Given the description of an element on the screen output the (x, y) to click on. 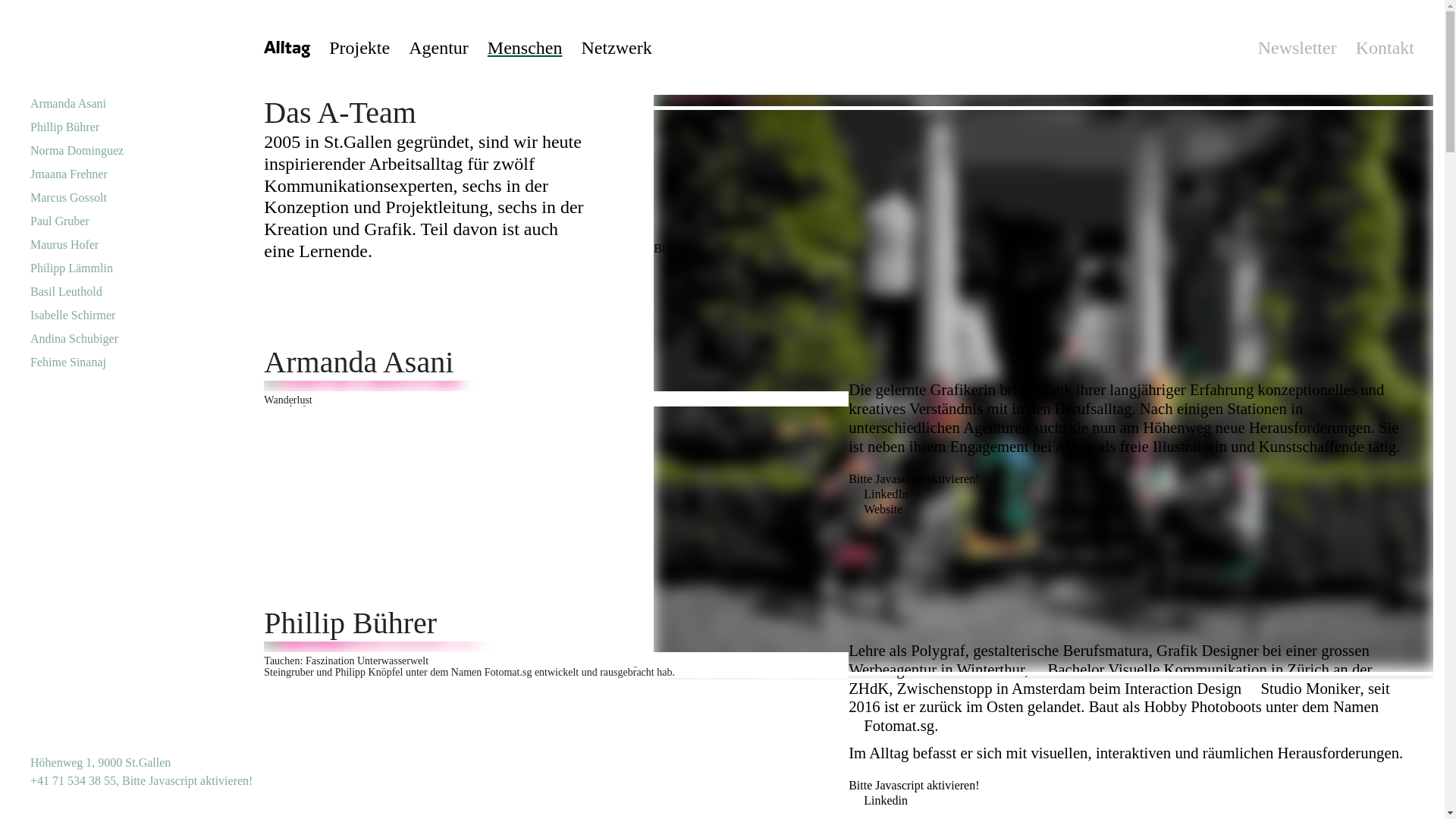
+41 71 534 38 55 Element type: text (73, 780)
Website Element type: text (875, 509)
Projekte Element type: text (359, 47)
Netzwerk Element type: text (615, 47)
Agentur Element type: text (438, 47)
Menschen Element type: text (524, 47)
Fehime Sinanaj Element type: text (102, 364)
Basil Leuthold Element type: text (102, 294)
LinkedIn Element type: text (878, 494)
Newsletter Element type: text (1297, 47)
Isabelle Schirmer Element type: text (102, 317)
Jmaana Frehner Element type: text (102, 176)
Linkedin Element type: text (877, 800)
Fotomat.sg Element type: text (891, 725)
Bachelor Visuelle Kommunikation Element type: text (1149, 669)
Armanda Asani Element type: text (102, 106)
Paul Gruber Element type: text (102, 223)
Maurus Hofer Element type: text (102, 247)
Kontakt Element type: text (1384, 47)
Norma Dominguez Element type: text (102, 153)
Studio Moniker Element type: text (1302, 688)
Andina Schubiger Element type: text (102, 341)
Marcus Gossolt Element type: text (102, 200)
